Given the description of an element on the screen output the (x, y) to click on. 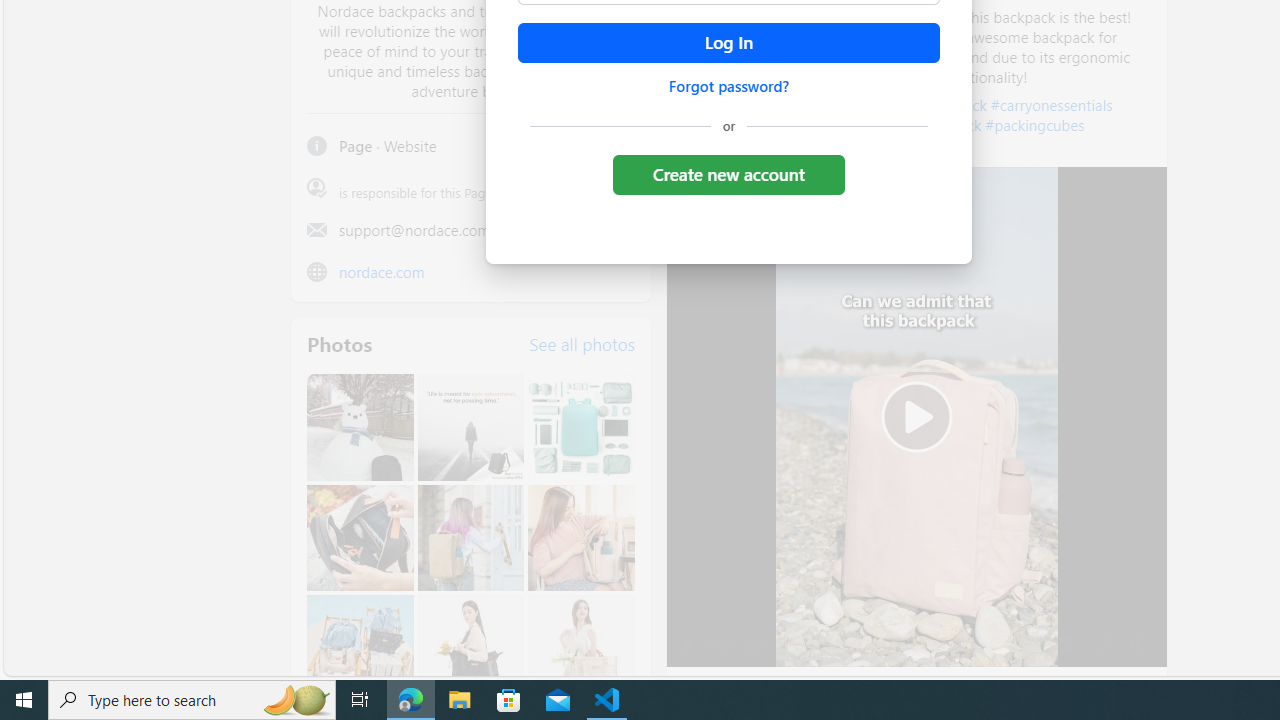
Create new account (728, 174)
Forgot password? (728, 85)
Accessible login button (728, 43)
